Given the description of an element on the screen output the (x, y) to click on. 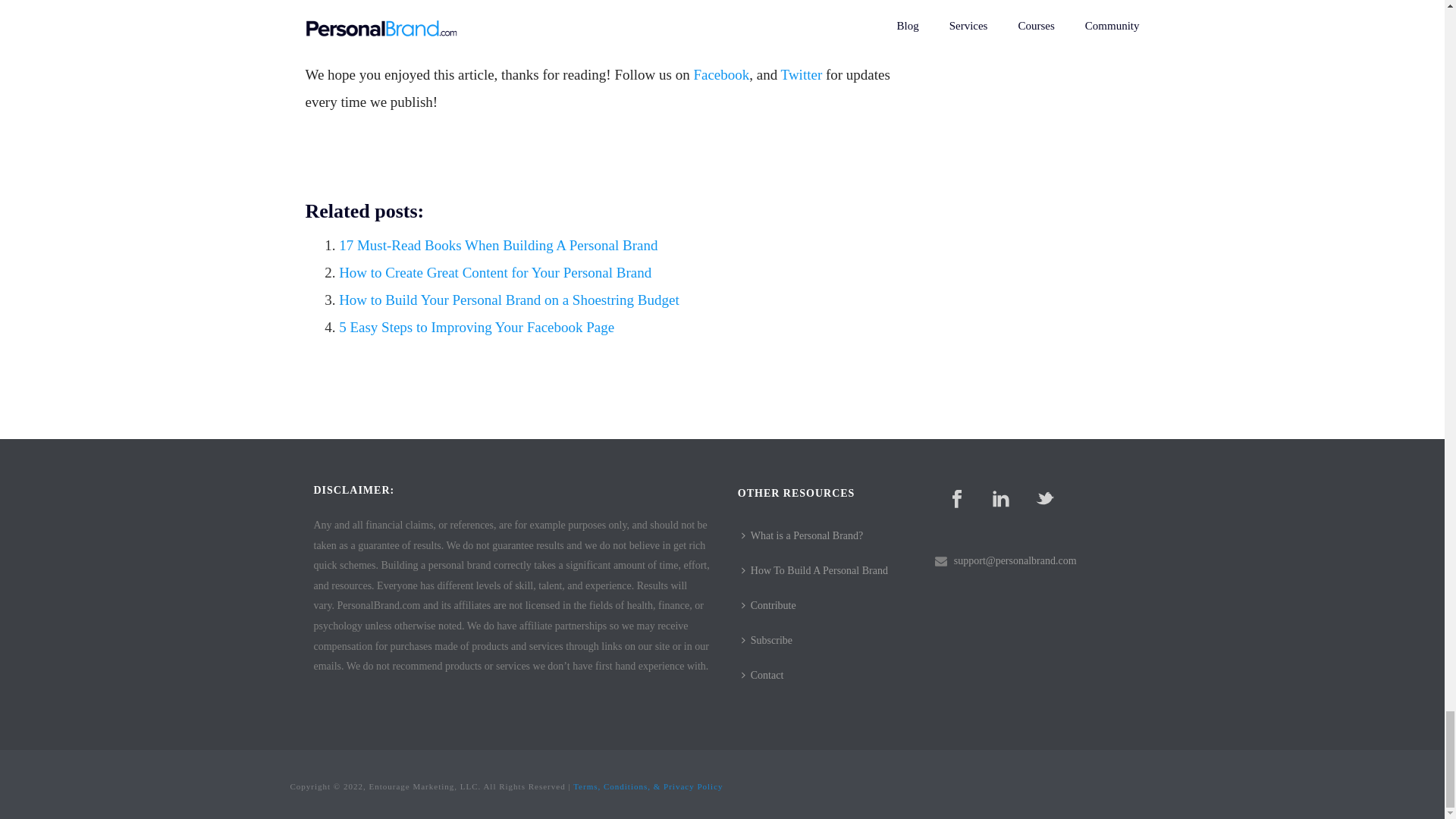
Personal Brand Builders Community (659, 5)
17 Must-Read Books When Building A Personal Brand (498, 245)
Contribute (773, 605)
Facebook (721, 74)
5 Easy Steps to Improving Your Facebook Page (476, 326)
How to Create Great Content for Your Personal Brand (494, 272)
17 Must-Read Books When Building A Personal Brand (498, 245)
How to Build Your Personal Brand on a Shoestring Budget (509, 299)
How to Create Great Content for Your Personal Brand (494, 272)
How To Build A Personal Brand (818, 570)
